Given the description of an element on the screen output the (x, y) to click on. 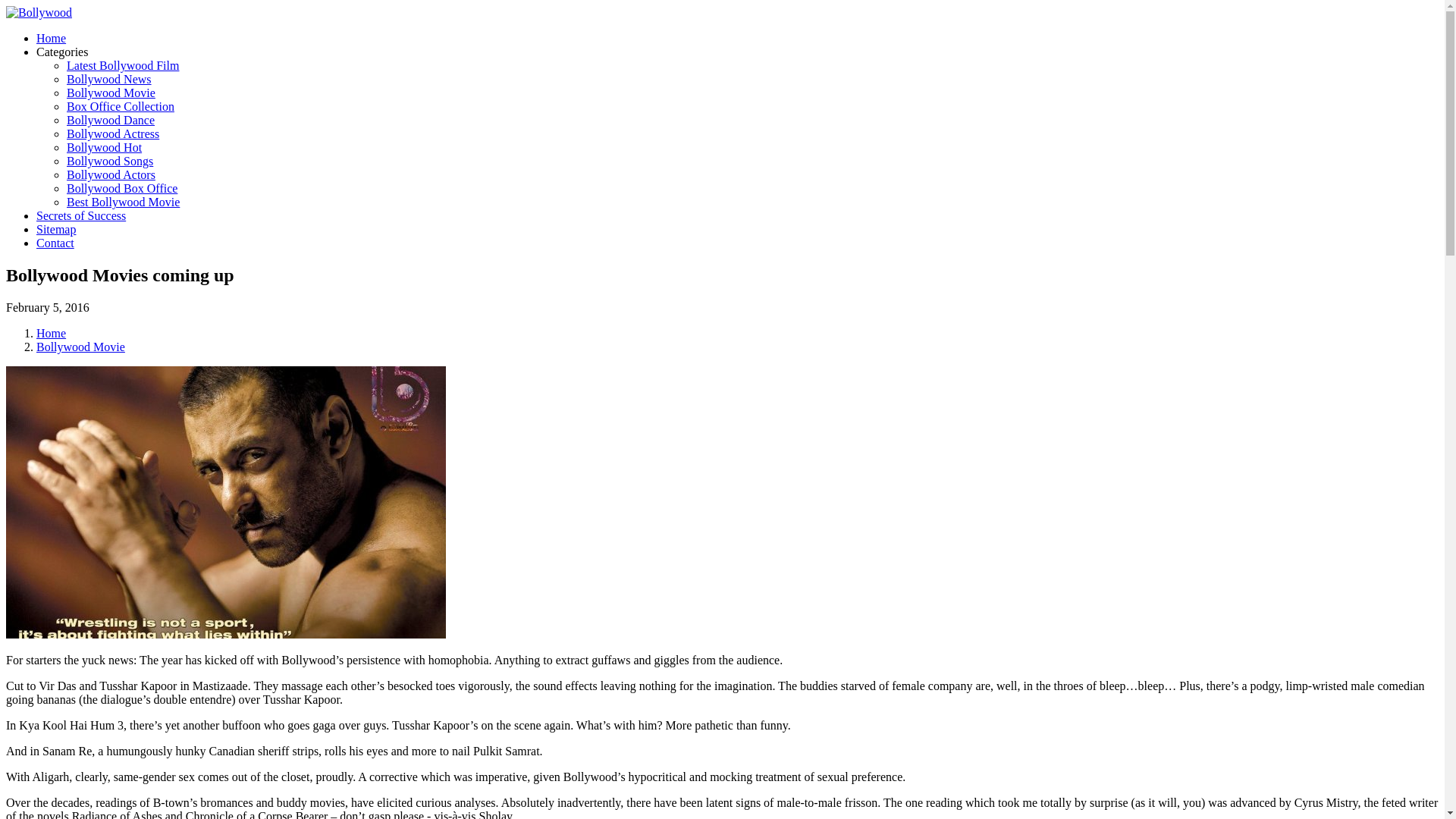
Bollywood Movie (110, 92)
Bollywood Songs (109, 160)
Categories (61, 51)
Bollywood Box Office (121, 187)
Latest Bollywood Film (122, 65)
Home (50, 332)
Contact (55, 242)
Sitemap (55, 228)
Home (50, 38)
Bollywood Hot (103, 146)
Bollywood Actors (110, 174)
Best Bollywood Movie (122, 201)
Bollywood News (108, 78)
Bollywood Dance (110, 119)
Bollywood Actress (112, 133)
